Given the description of an element on the screen output the (x, y) to click on. 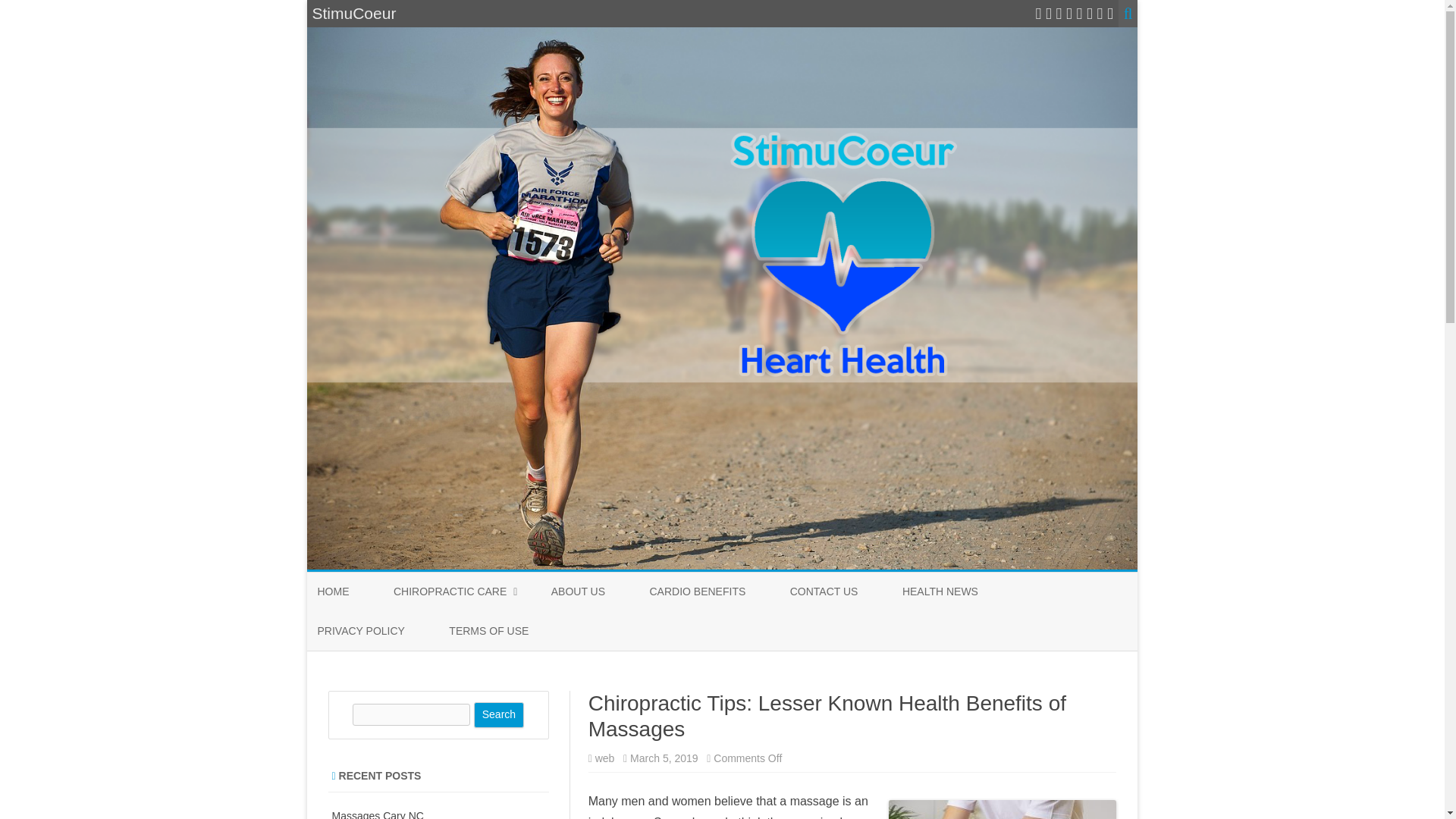
CHIROPRACTIC CARE (449, 591)
CARDIO BENEFITS (697, 591)
Search (499, 714)
MASSAGE THERAPY CARY (468, 626)
ABOUT US (578, 591)
